Given the description of an element on the screen output the (x, y) to click on. 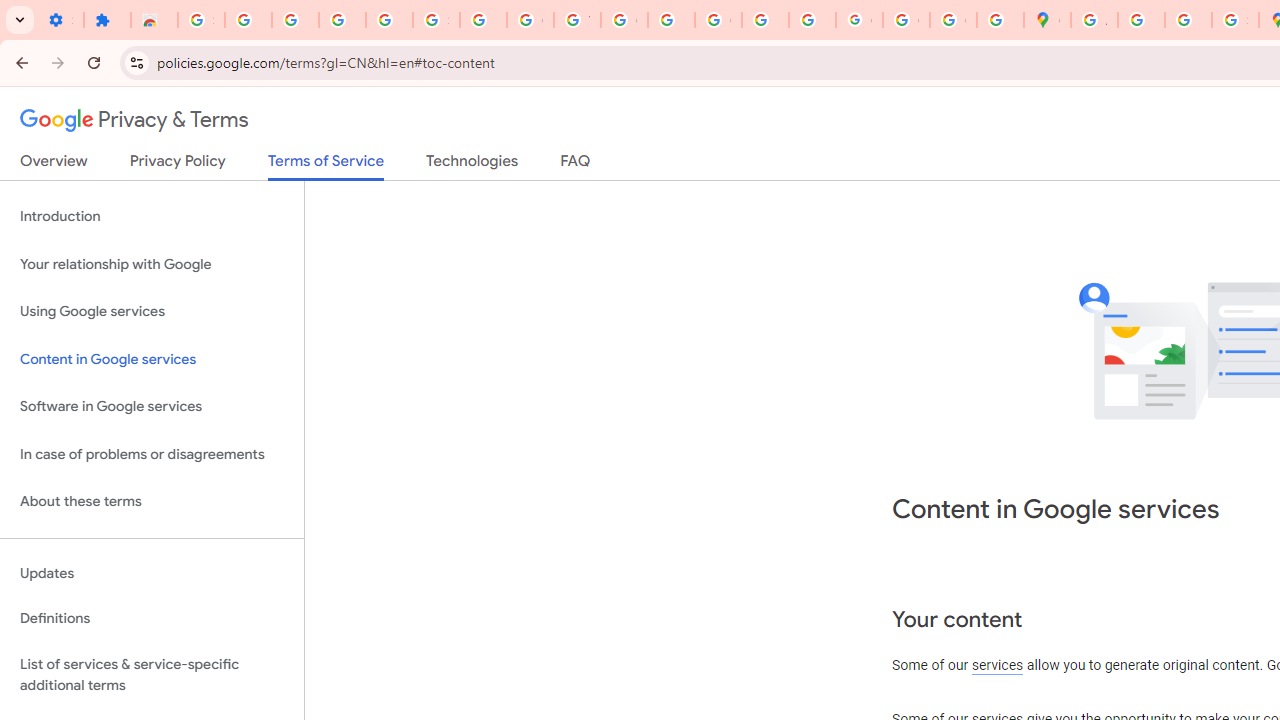
Content in Google services (152, 358)
Safety in Our Products - Google Safety Center (1235, 20)
Software in Google services (152, 407)
Google Account (530, 20)
